Given the description of an element on the screen output the (x, y) to click on. 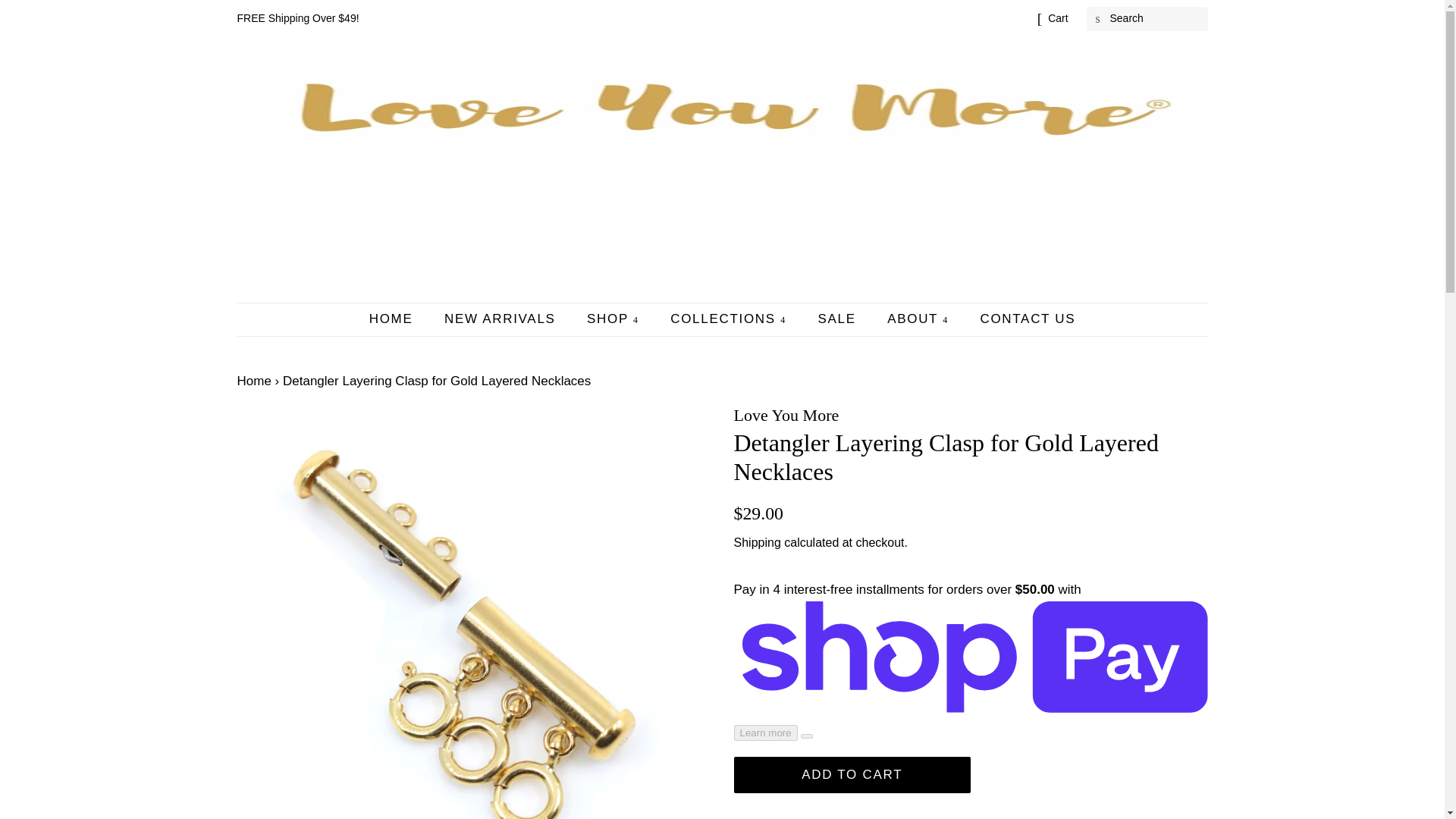
Cart (1057, 18)
Back to the frontpage (252, 380)
SEARCH (1097, 18)
